Given the description of an element on the screen output the (x, y) to click on. 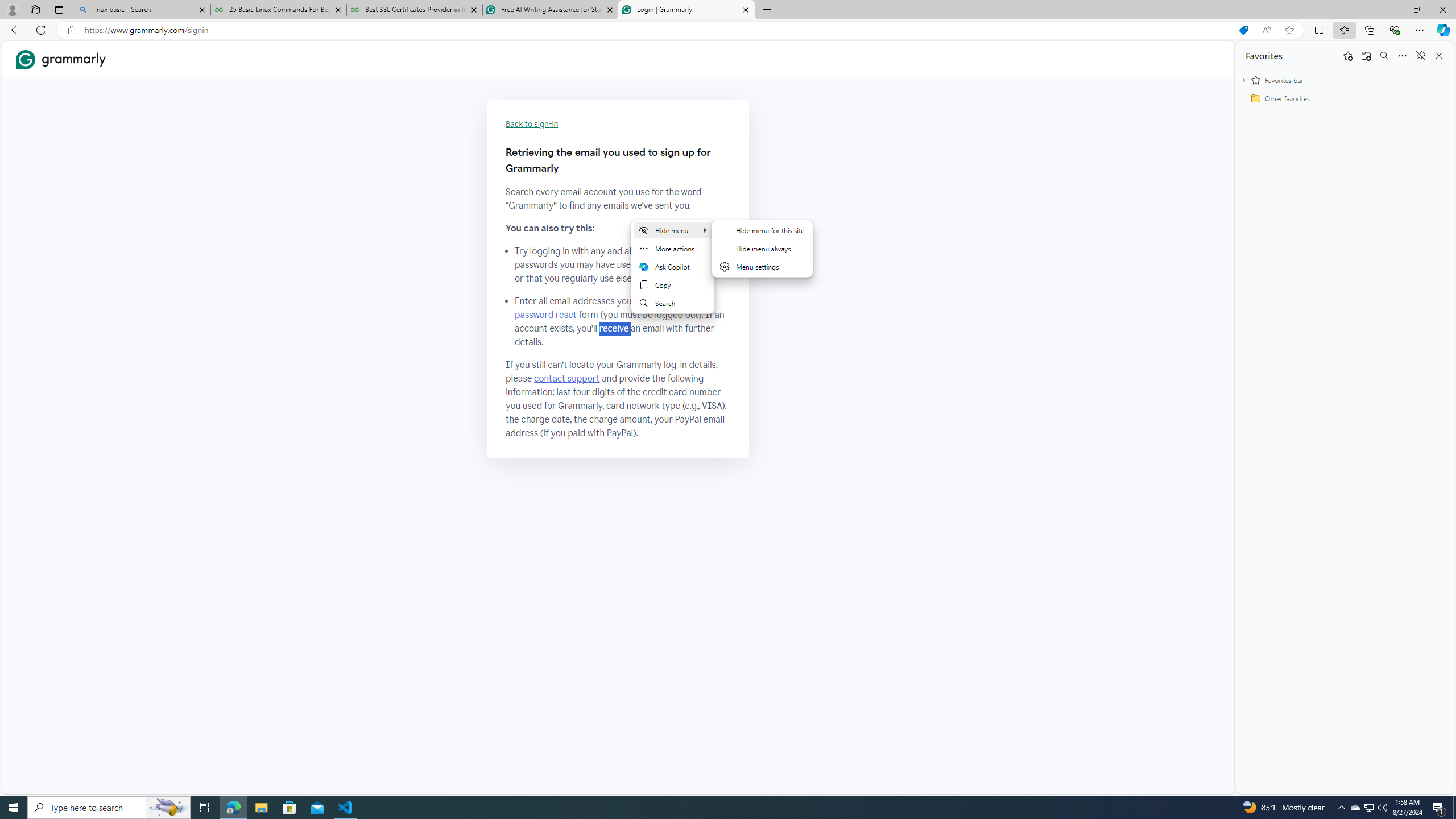
Unpin favorites (1420, 55)
Add this page to favorites (1347, 55)
Back to sign-in (532, 124)
